Given the description of an element on the screen output the (x, y) to click on. 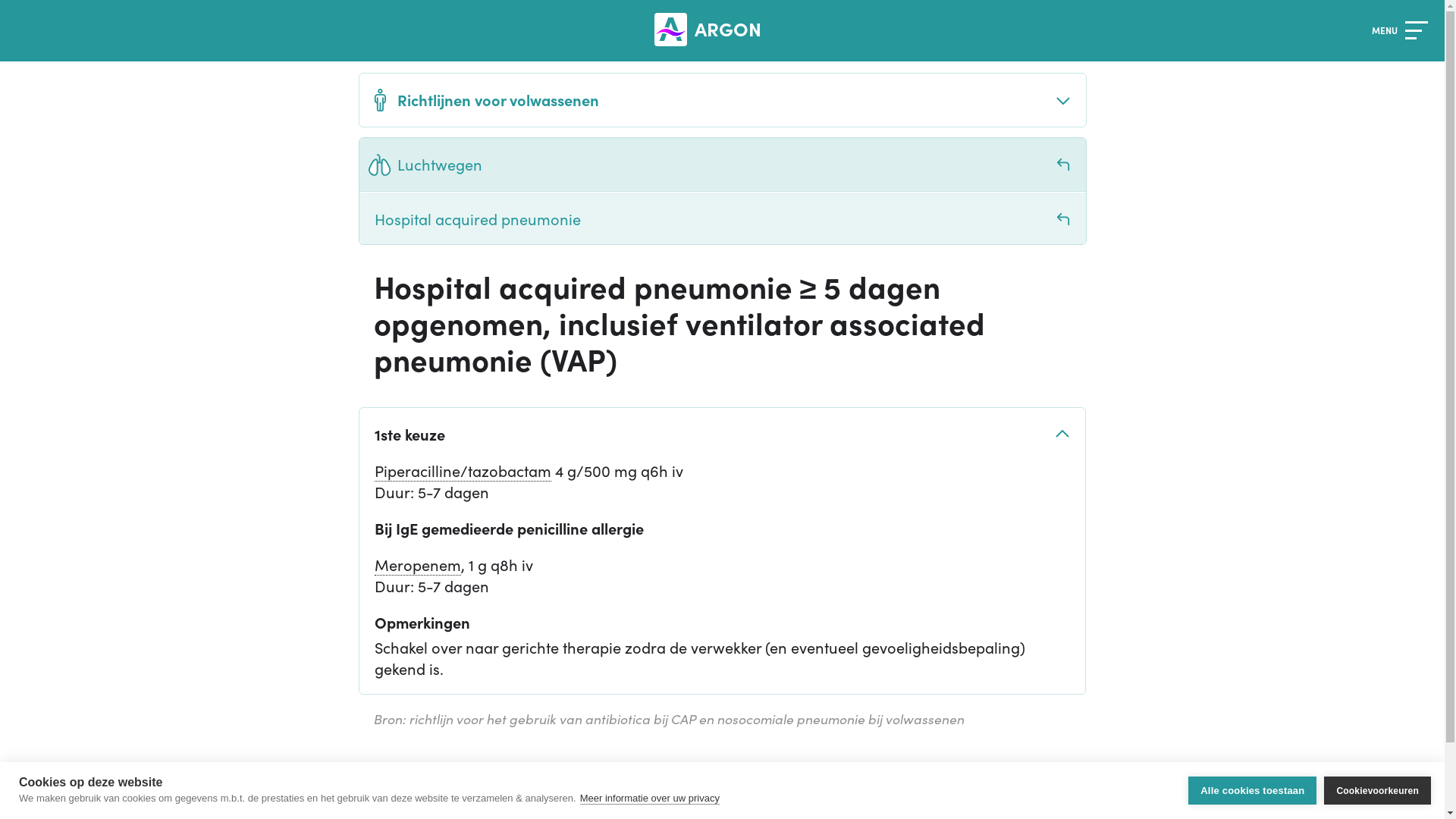
Luchtwegen Element type: text (722, 164)
ARGON Element type: text (710, 30)
Cookievoorkeuren Element type: text (1377, 790)
Toon/verberg navigatie Element type: text (1415, 29)
Meer informatie over uw privacy Element type: text (649, 797)
Hospital acquired pneumonie Element type: text (722, 217)
Meropenem Element type: text (417, 564)
Piperacilline/tazobactam Element type: text (462, 470)
Alle cookies toestaan Element type: text (1252, 790)
